Given the description of an element on the screen output the (x, y) to click on. 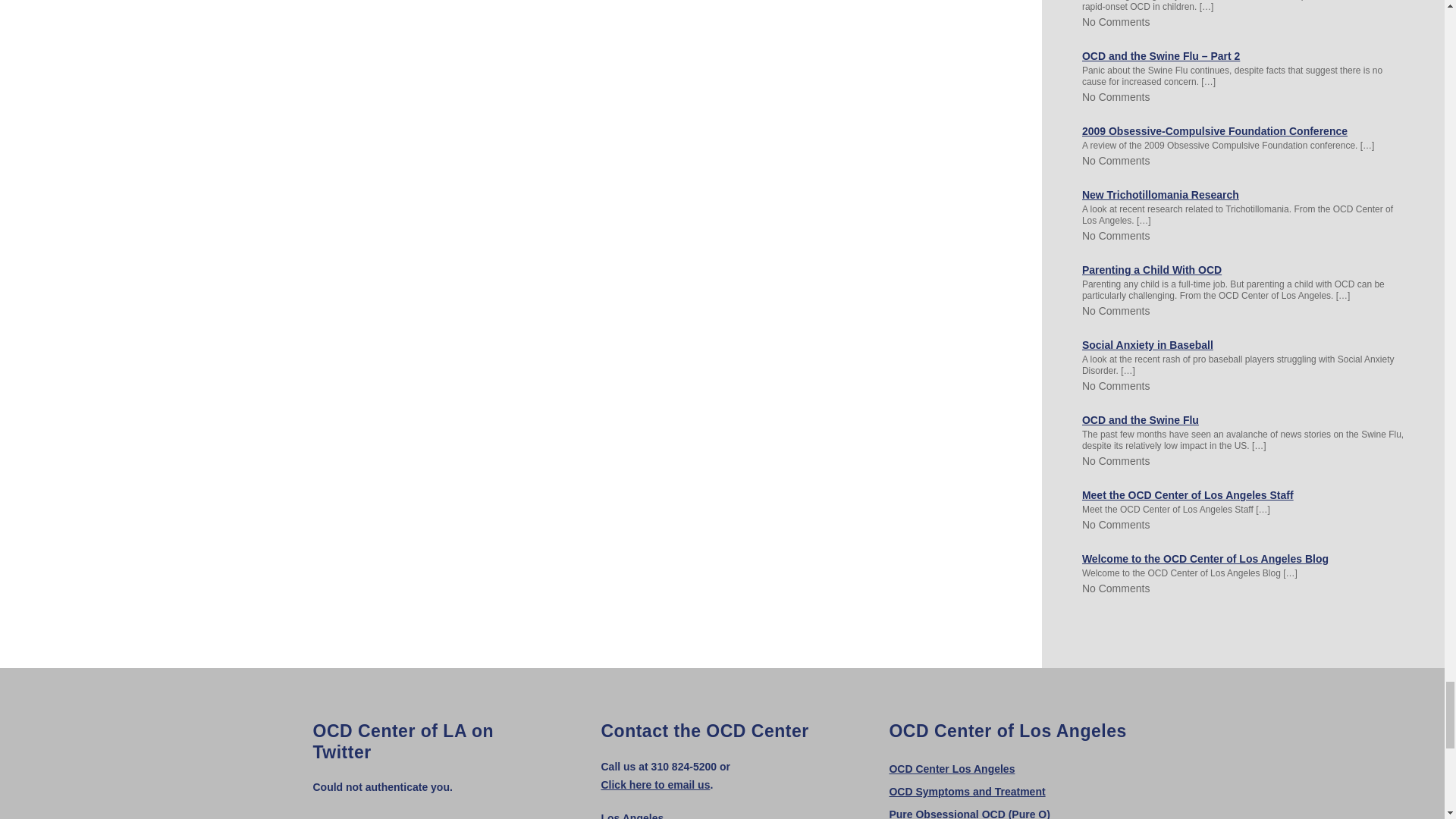
Email the OCD Center of Los Angeles (654, 784)
What is OCD? (966, 791)
OCD Center Los Angeles (951, 768)
